Given the description of an element on the screen output the (x, y) to click on. 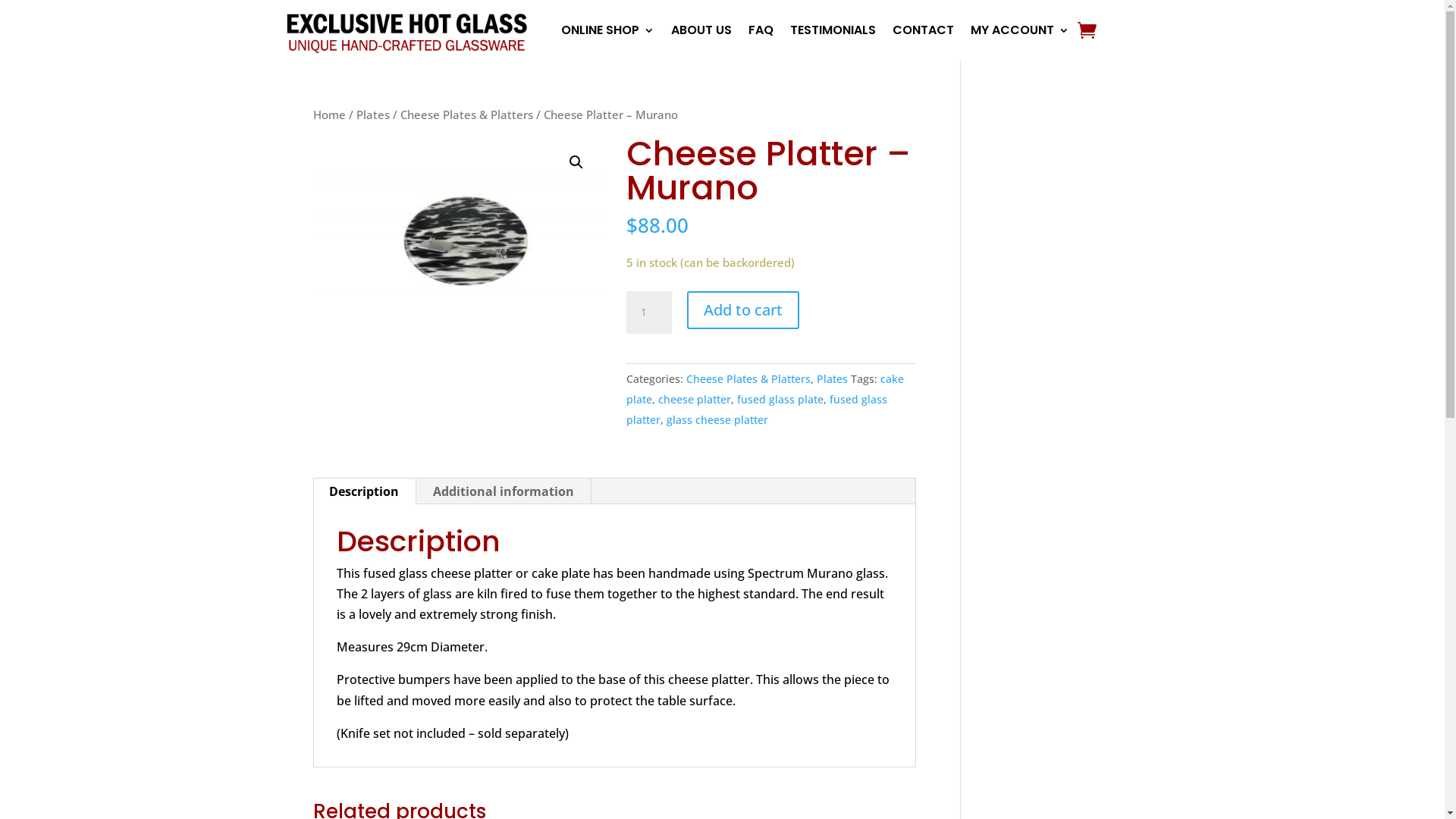
MY ACCOUNT Element type: text (1019, 30)
Add to cart Element type: text (743, 310)
ONLINE SHOP Element type: text (607, 30)
Plates Element type: text (831, 378)
cheese platter Element type: text (694, 399)
Additional information Element type: text (502, 491)
cake plate Element type: text (764, 388)
Black and white cheese platter Element type: hover (457, 232)
TESTIMONIALS Element type: text (832, 30)
Cheese Plates & Platters Element type: text (466, 114)
CONTACT Element type: text (922, 30)
Cheese Plates & Platters Element type: text (748, 378)
Plates Element type: text (372, 114)
fused glass platter Element type: text (756, 409)
ABOUT US Element type: text (701, 30)
glass cheese platter Element type: text (717, 419)
Home Element type: text (328, 114)
Description Element type: text (363, 491)
FAQ Element type: text (760, 30)
fused glass plate Element type: text (780, 399)
